Given the description of an element on the screen output the (x, y) to click on. 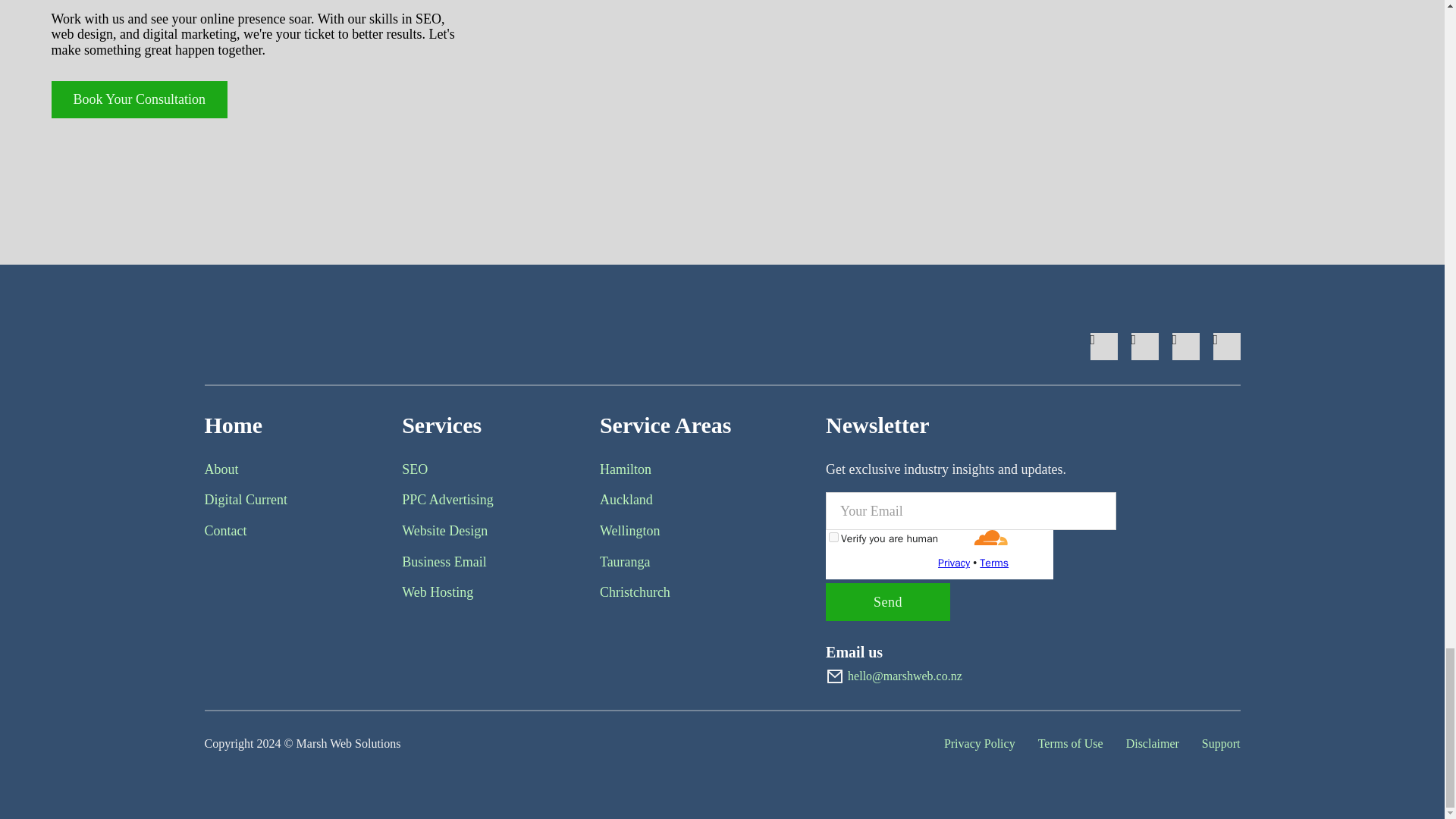
Home (234, 424)
Follow Marsh Web Solutions on Instagram (1144, 346)
Follow Marsh Web Solutions on Facebook (1104, 346)
Book Your Consultation (139, 99)
About (221, 469)
Contact (226, 530)
Follow Marsh Web Solutions through RSS feed (1226, 346)
Digital Current (245, 499)
Follow Marsh Web Solutions on LinkedIn (1185, 346)
